Given the description of an element on the screen output the (x, y) to click on. 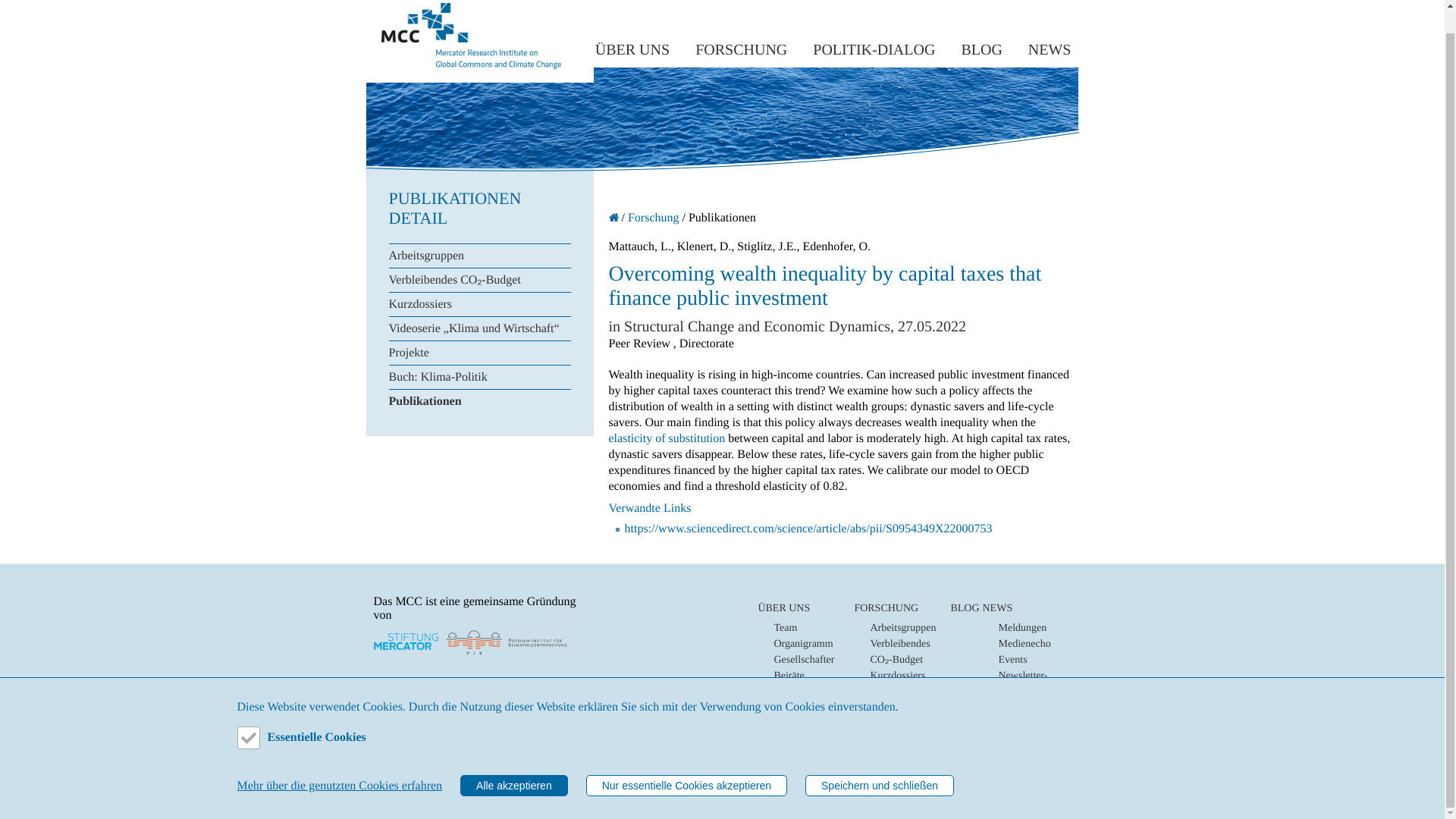
Arbeitsgruppen (902, 627)
Gesellschafter (803, 659)
Forschung (653, 217)
MyMCC (387, 780)
FORSCHUNG (741, 46)
BLOG (980, 46)
Buch: Klima-Politik (479, 377)
elasticity of substitution (666, 438)
